Given the description of an element on the screen output the (x, y) to click on. 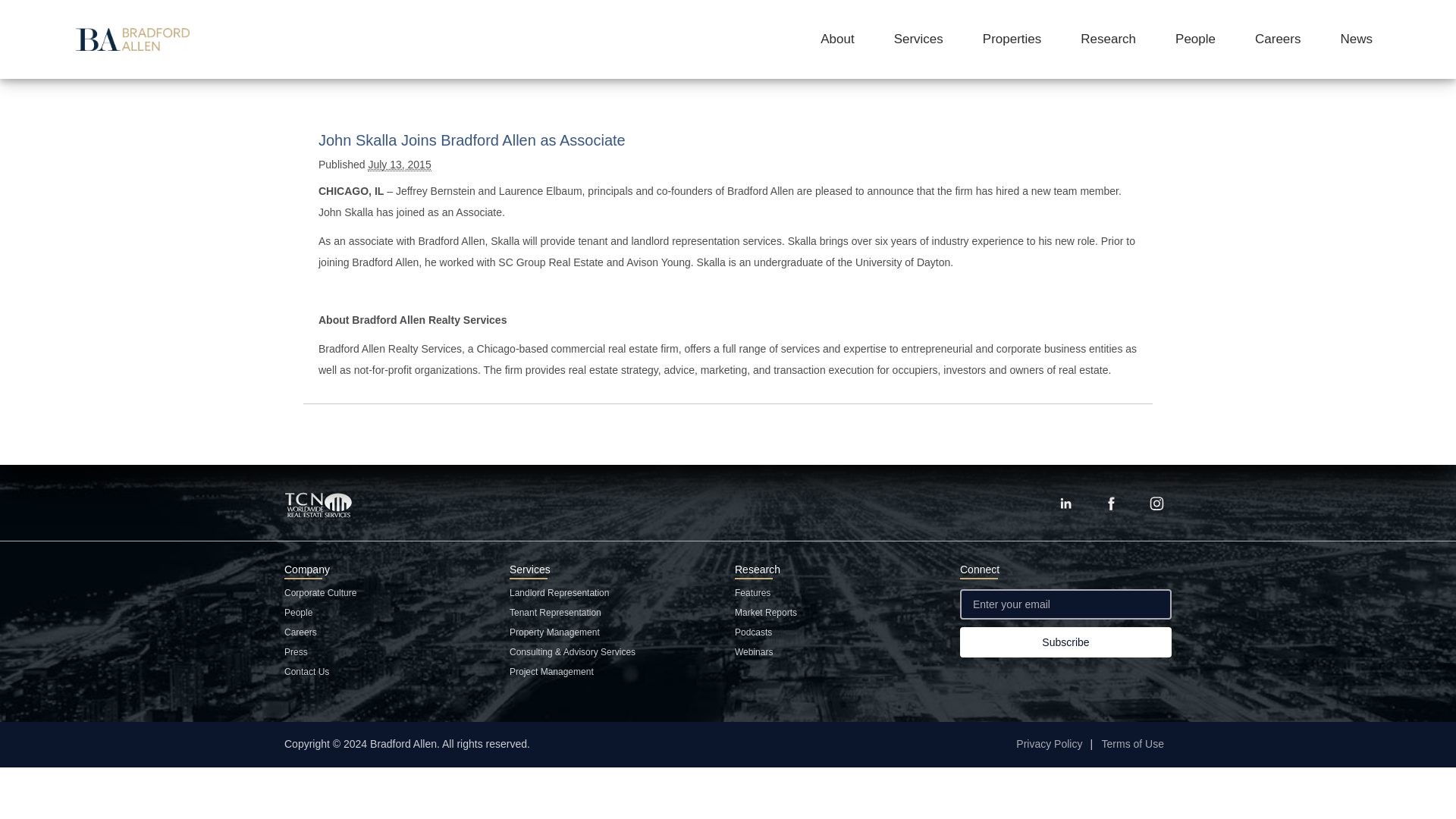
Tenant Representation (555, 612)
Property Management (554, 632)
Careers (1277, 38)
News (1356, 38)
Read John Skalla Joins Bradford Allen as Associate (472, 139)
People (298, 612)
Careers (300, 632)
People (1194, 38)
Corporate Culture (319, 593)
Subscribe (1065, 642)
